Given the description of an element on the screen output the (x, y) to click on. 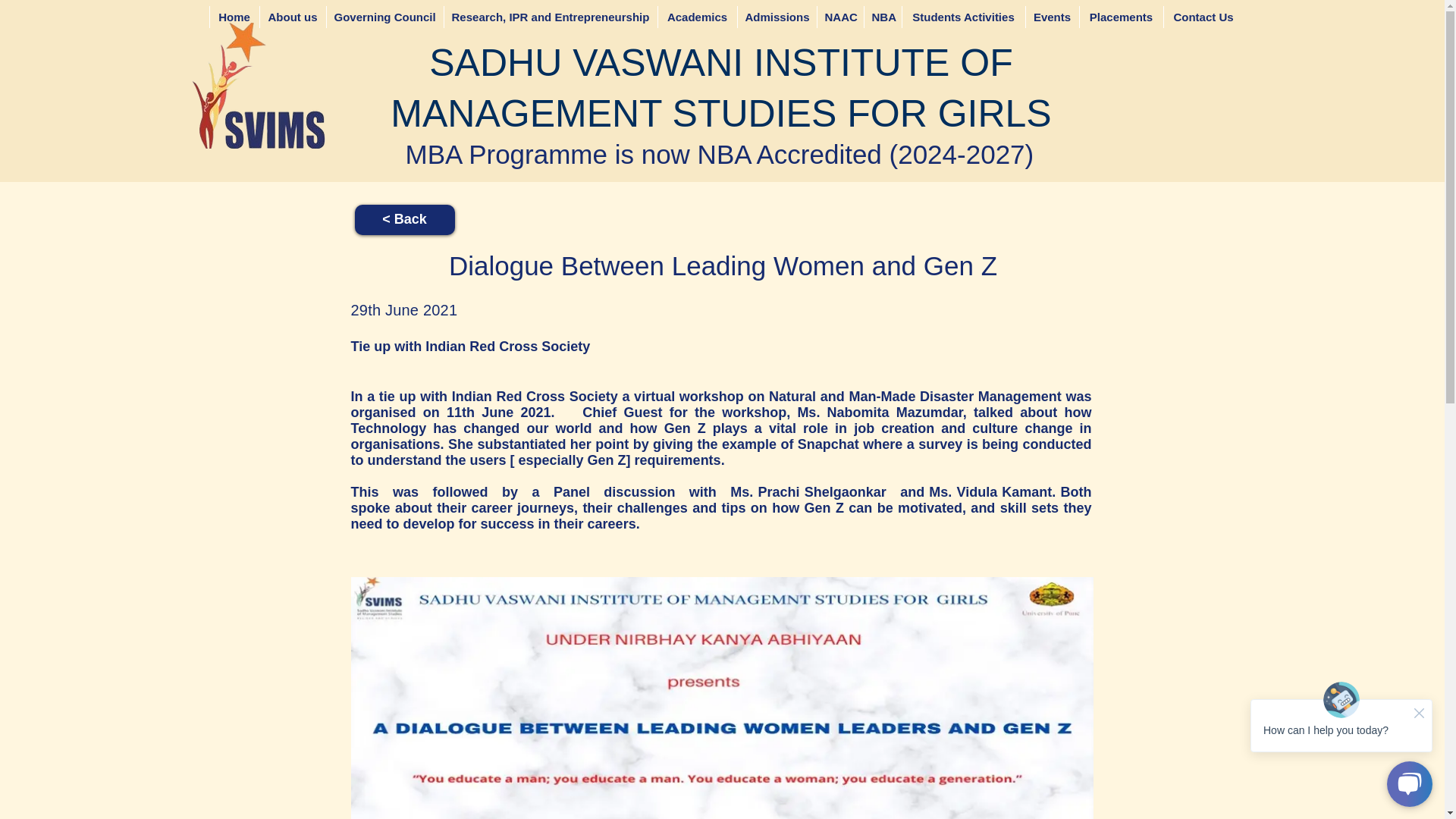
Governing Council (385, 16)
Home (234, 16)
Academics (696, 16)
NBA (882, 16)
NAAC (839, 16)
Admissions (776, 16)
